Given the description of an element on the screen output the (x, y) to click on. 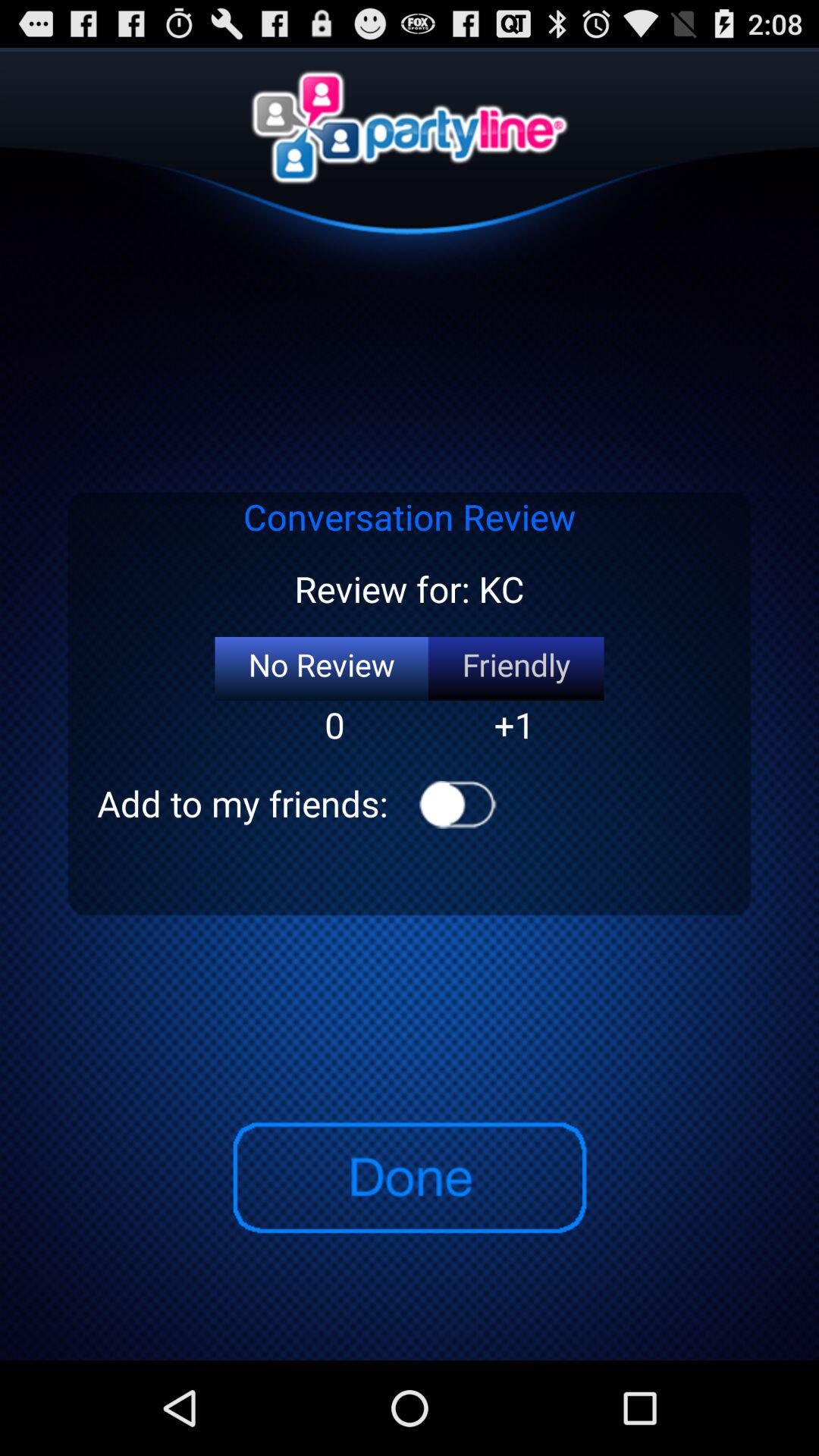
tap icon above the 0 (321, 668)
